Given the description of an element on the screen output the (x, y) to click on. 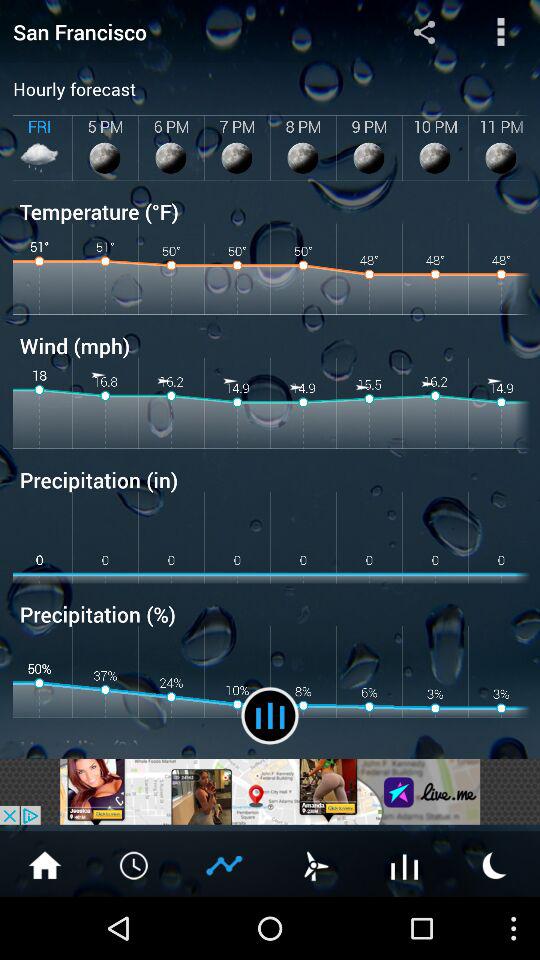
night (495, 864)
